Given the description of an element on the screen output the (x, y) to click on. 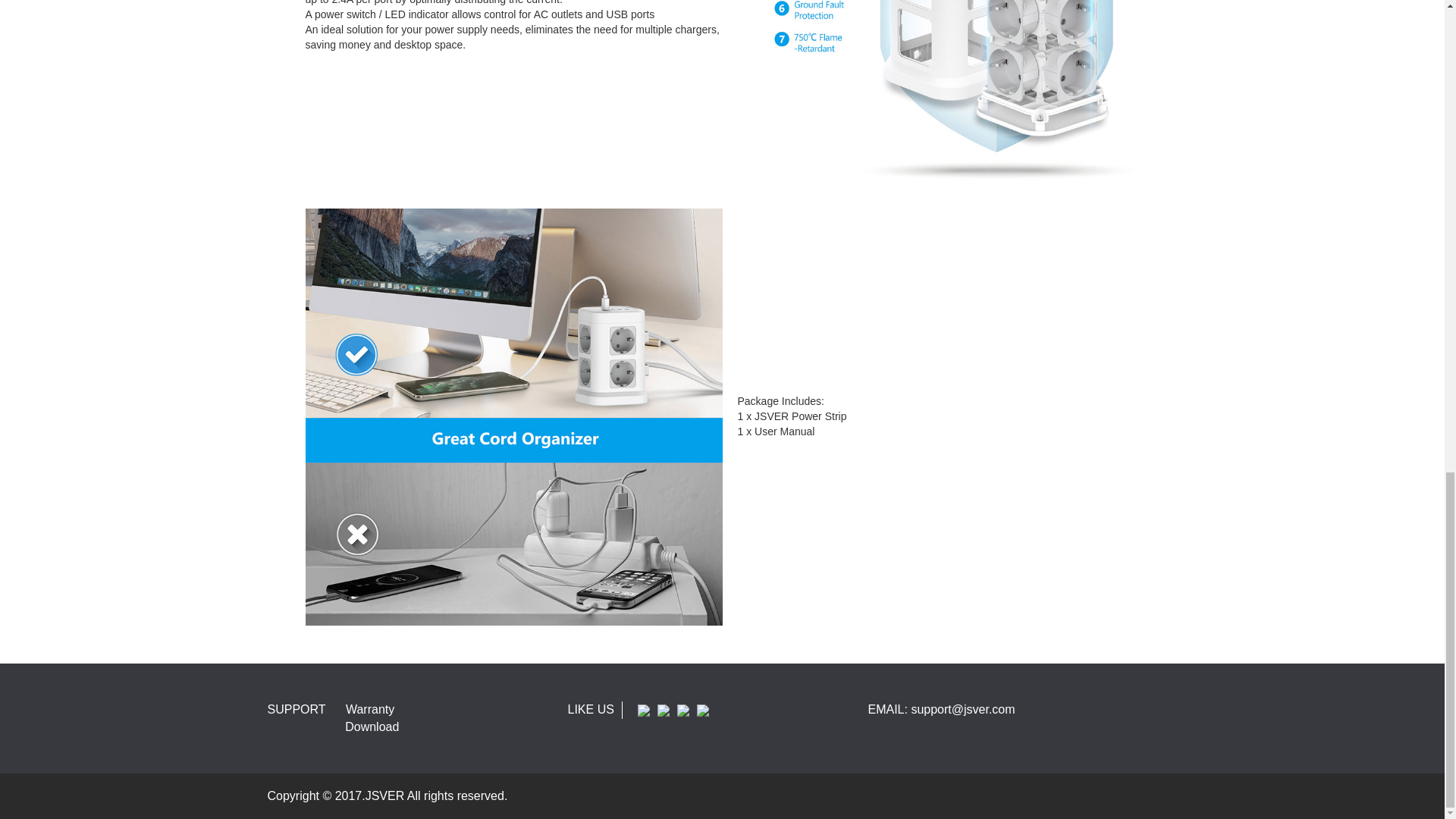
Warranty (370, 708)
Download (371, 726)
SUPPORT (295, 708)
